Given the description of an element on the screen output the (x, y) to click on. 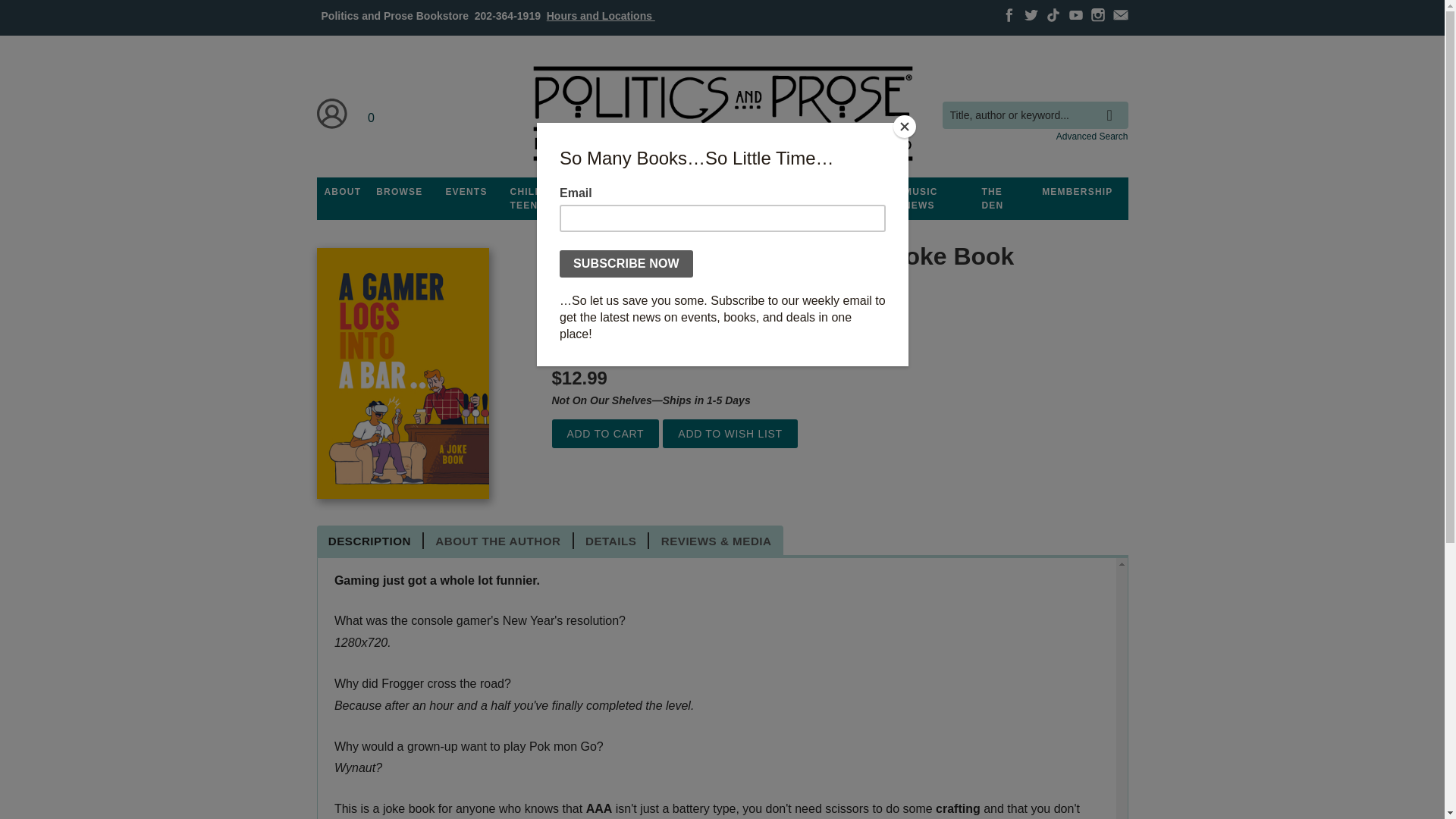
search (1112, 103)
Home (721, 114)
ABOUT (343, 191)
EVENTS (465, 191)
Browse our shelves (398, 191)
SERVICES (808, 191)
Add to Wish List (729, 433)
SUBSCRIPTIONS (722, 191)
Advanced Search (1092, 136)
search (1112, 103)
Title, author or keyword... (1034, 115)
See our store ours and locations (601, 15)
See our event calendar (465, 191)
Hours and Locations  (601, 15)
PROGRAMS (633, 191)
